Given the description of an element on the screen output the (x, y) to click on. 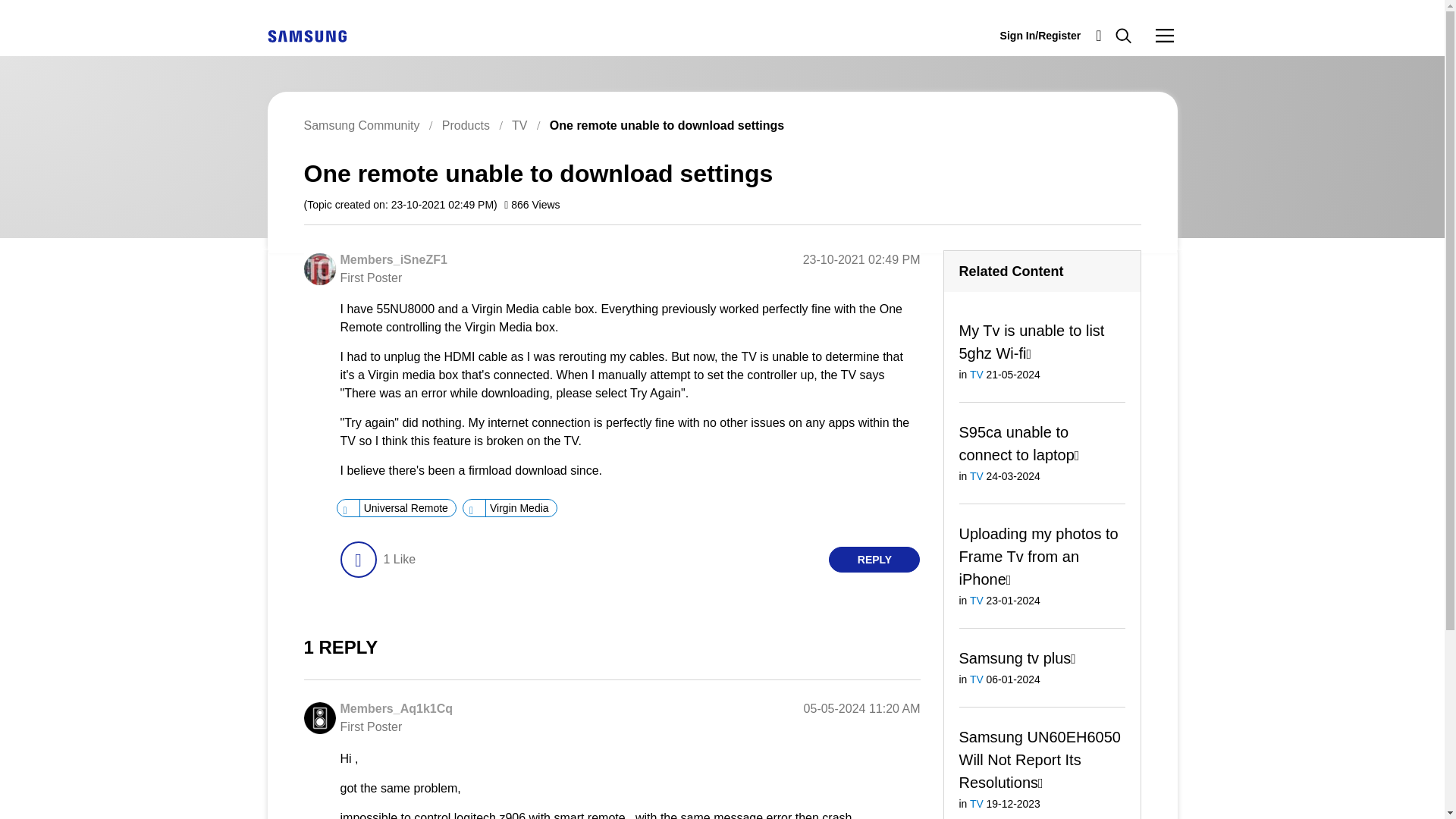
Products (465, 124)
REPLY (874, 559)
English (306, 36)
Click here to give likes to this post. (357, 559)
Universal Remote (405, 507)
1 Like (398, 559)
Click here to see who gave likes to this post. (398, 559)
Virgin Media (518, 507)
TV (519, 124)
English (306, 34)
